Given the description of an element on the screen output the (x, y) to click on. 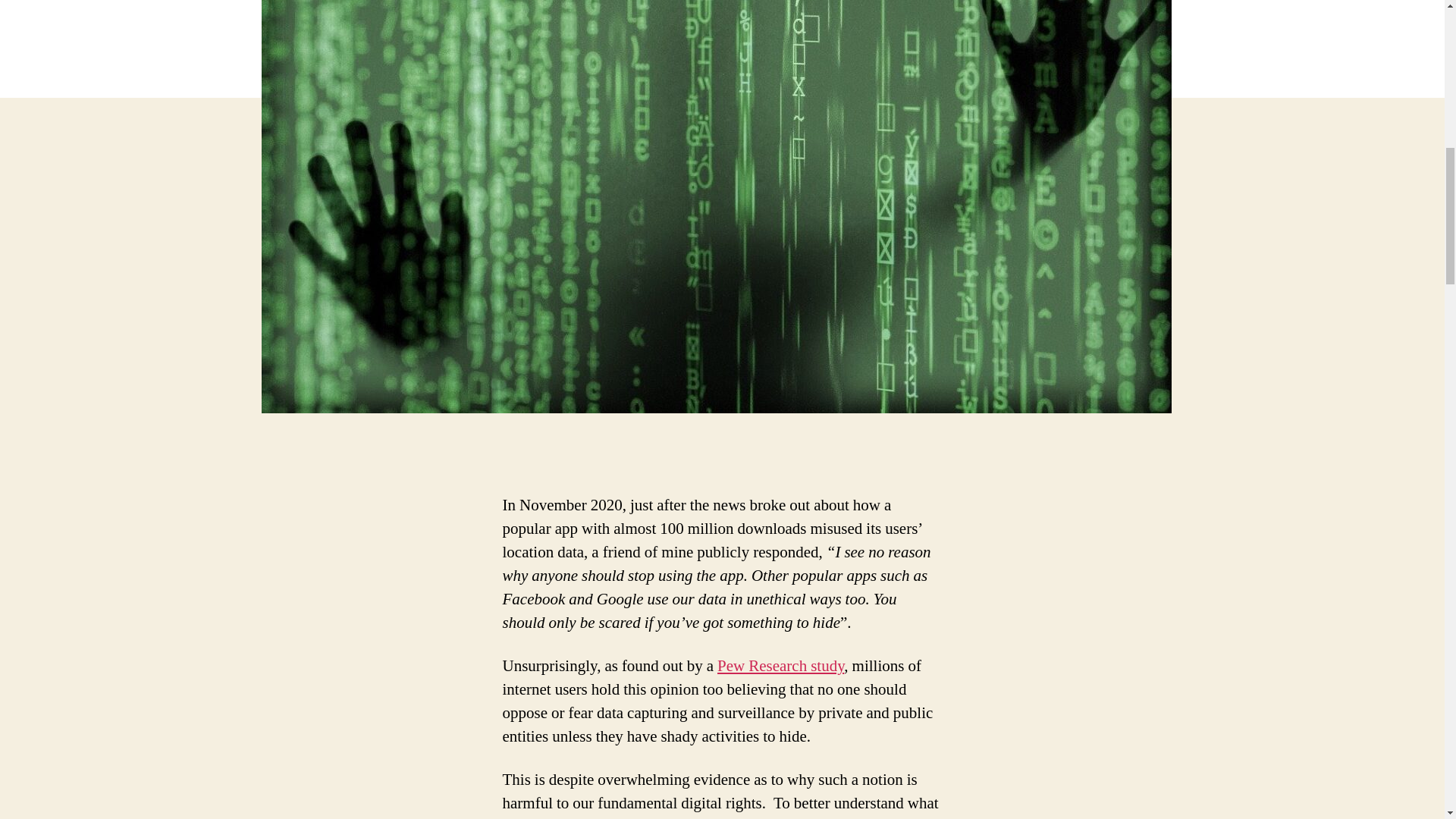
Pew Research study (780, 666)
